Given the description of an element on the screen output the (x, y) to click on. 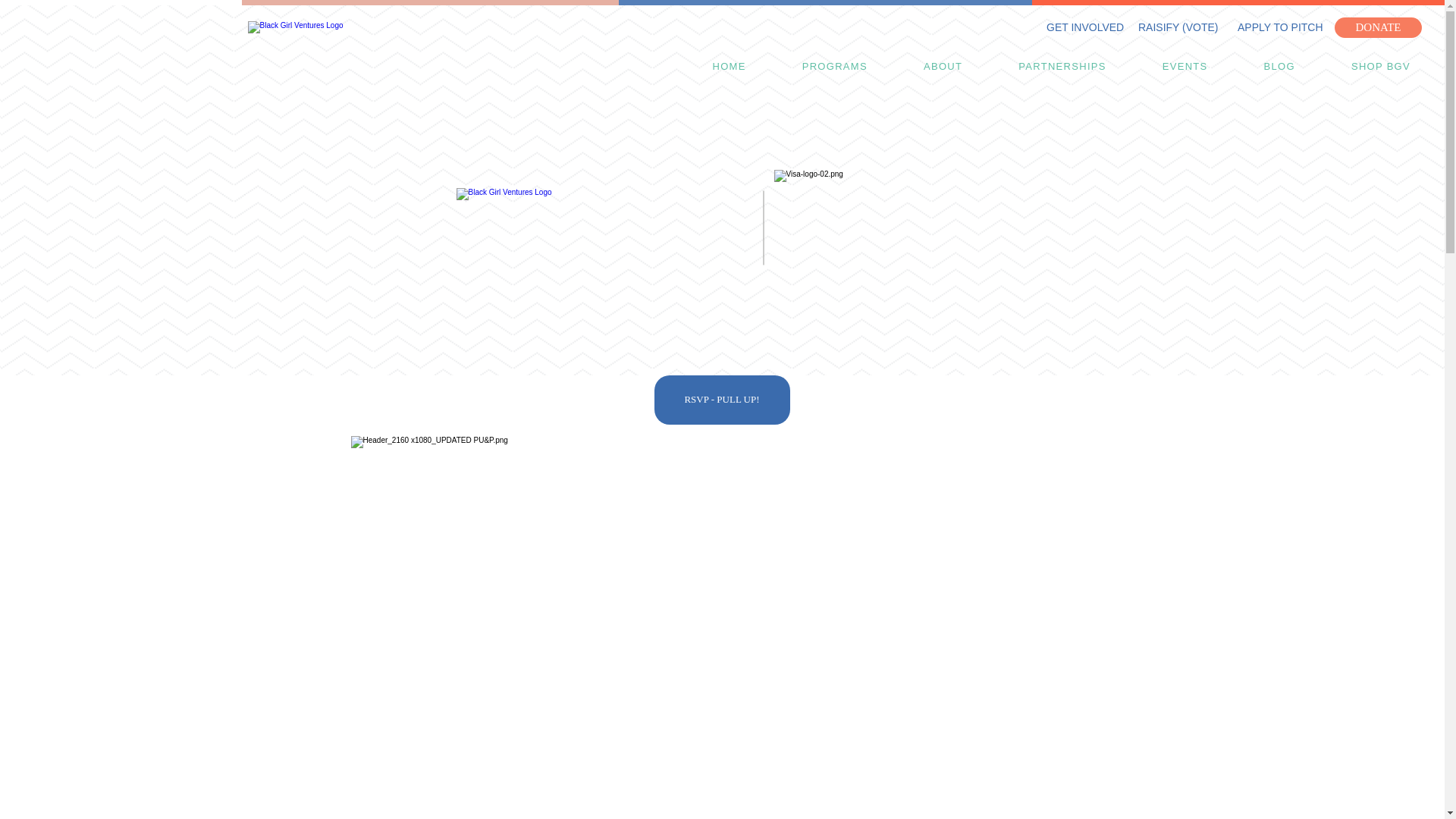
PARTNERSHIPS (1062, 67)
GET INVOLVED (1085, 27)
BLOG (1279, 67)
SHOP BGV (1380, 67)
DONATE (1378, 27)
ABOUT (942, 67)
APPLY TO PITCH (1280, 27)
EVENTS (1184, 67)
HOME (728, 67)
RSVP - PULL UP! (721, 400)
